Given the description of an element on the screen output the (x, y) to click on. 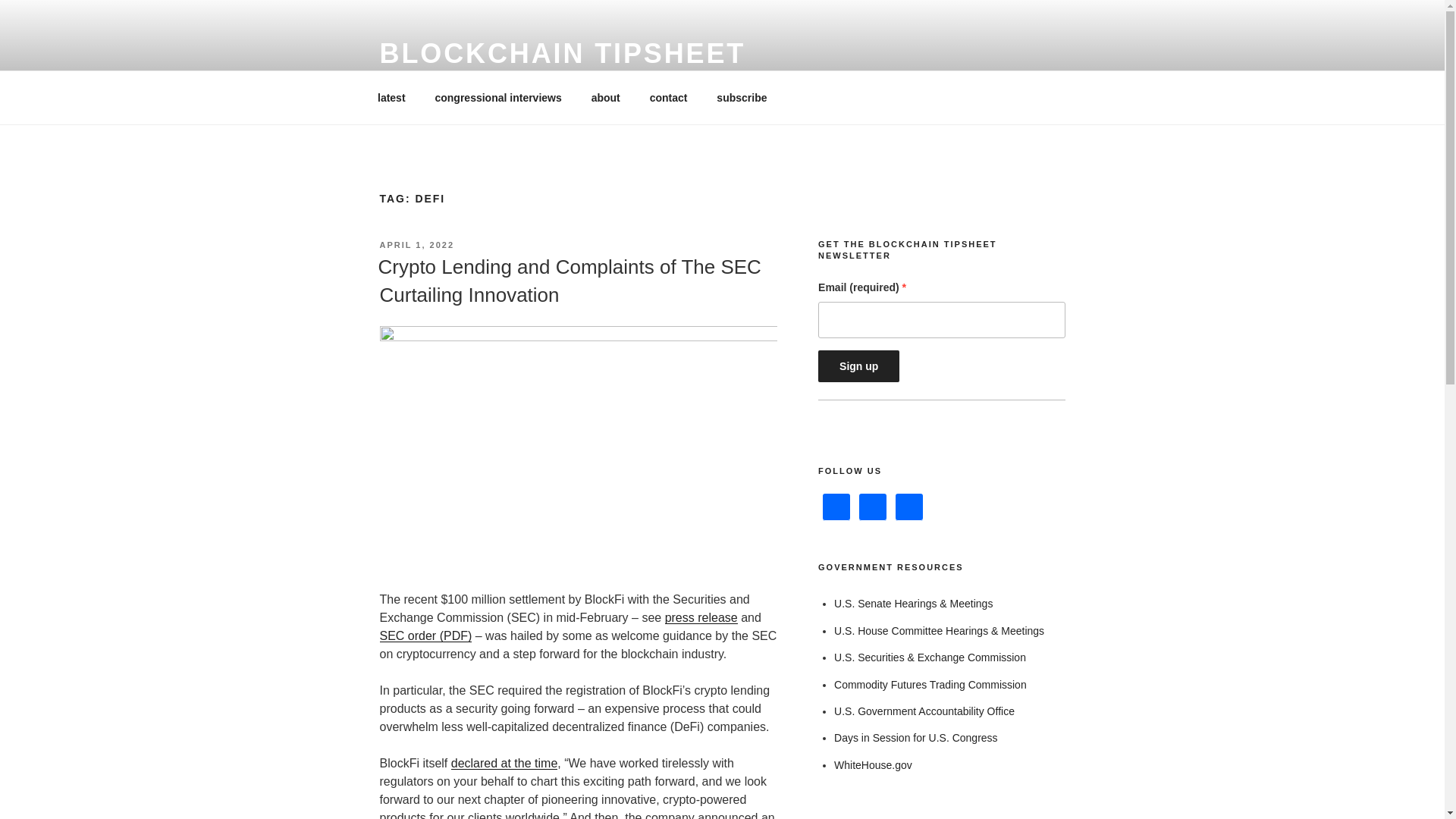
subscribe (741, 97)
about (605, 97)
BLOCKCHAIN TIPSHEET (561, 52)
U.S. Government Accountability Office (924, 711)
declared at the time (504, 762)
APRIL 1, 2022 (416, 244)
press release (701, 617)
WhiteHouse.gov (873, 765)
Days in Session for U.S. Congress (915, 737)
Commodity Futures Trading Commission (930, 684)
Sign up (858, 366)
congressional interviews (498, 97)
contact (668, 97)
latest (391, 97)
